Given the description of an element on the screen output the (x, y) to click on. 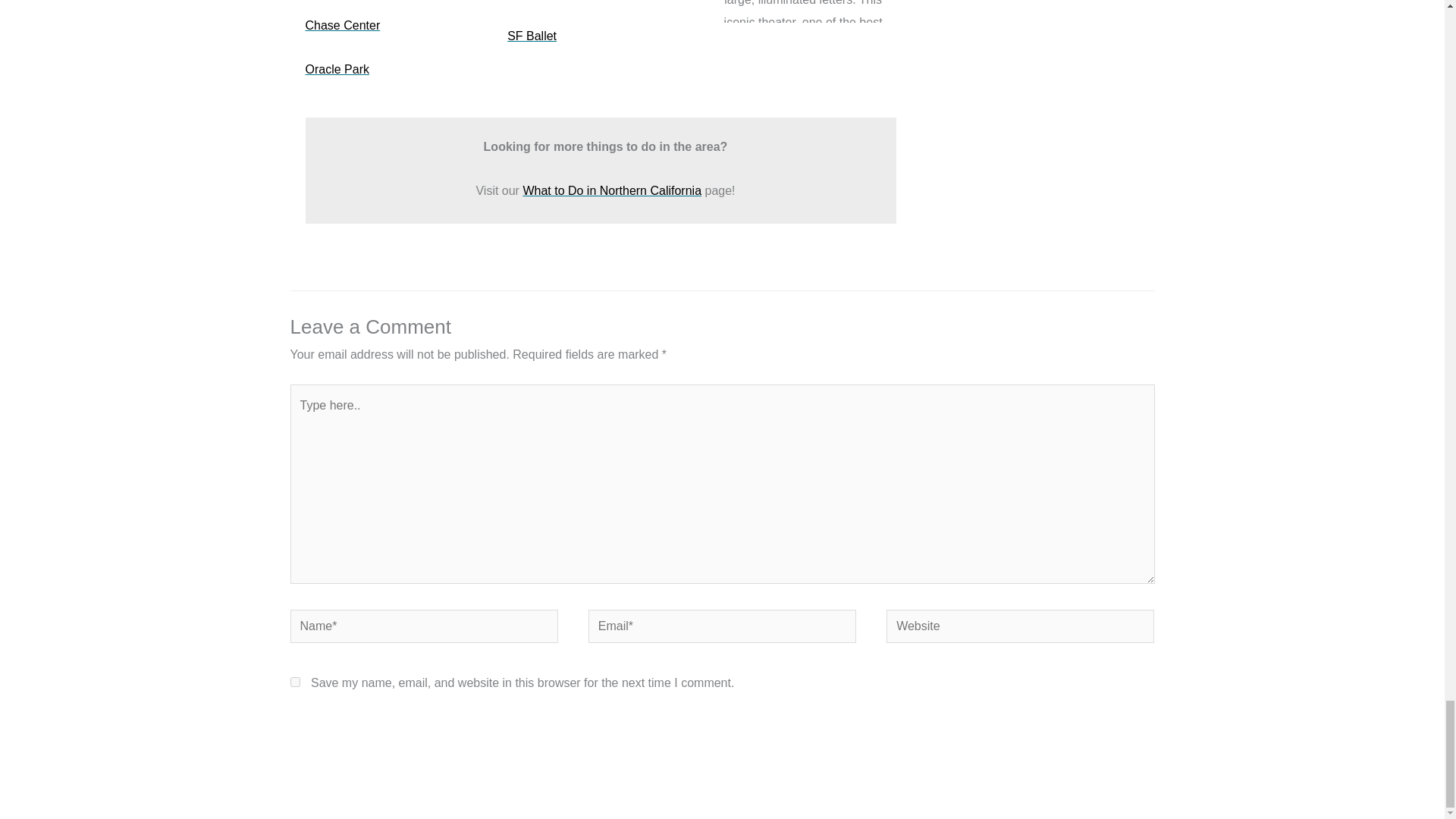
yes (294, 682)
